Given the description of an element on the screen output the (x, y) to click on. 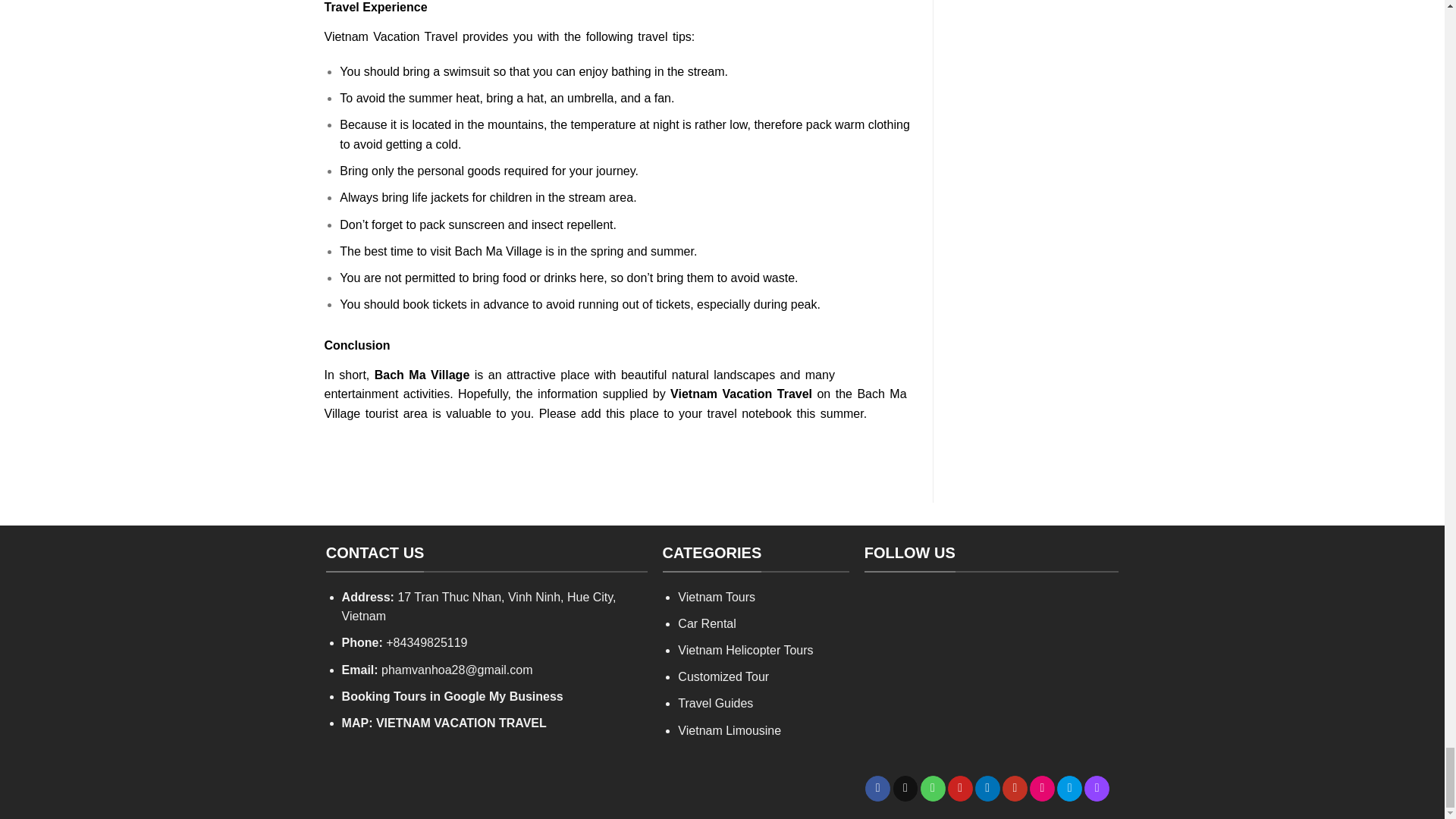
Follow on 500px (1069, 788)
Follow on Pinterest (959, 788)
Call us (932, 788)
Send us an email (905, 788)
Follow on Facebook (876, 788)
Follow on YouTube (1015, 788)
Follow on LinkedIn (987, 788)
Follow on Twitch (1096, 788)
Flickr (1041, 788)
